Given the description of an element on the screen output the (x, y) to click on. 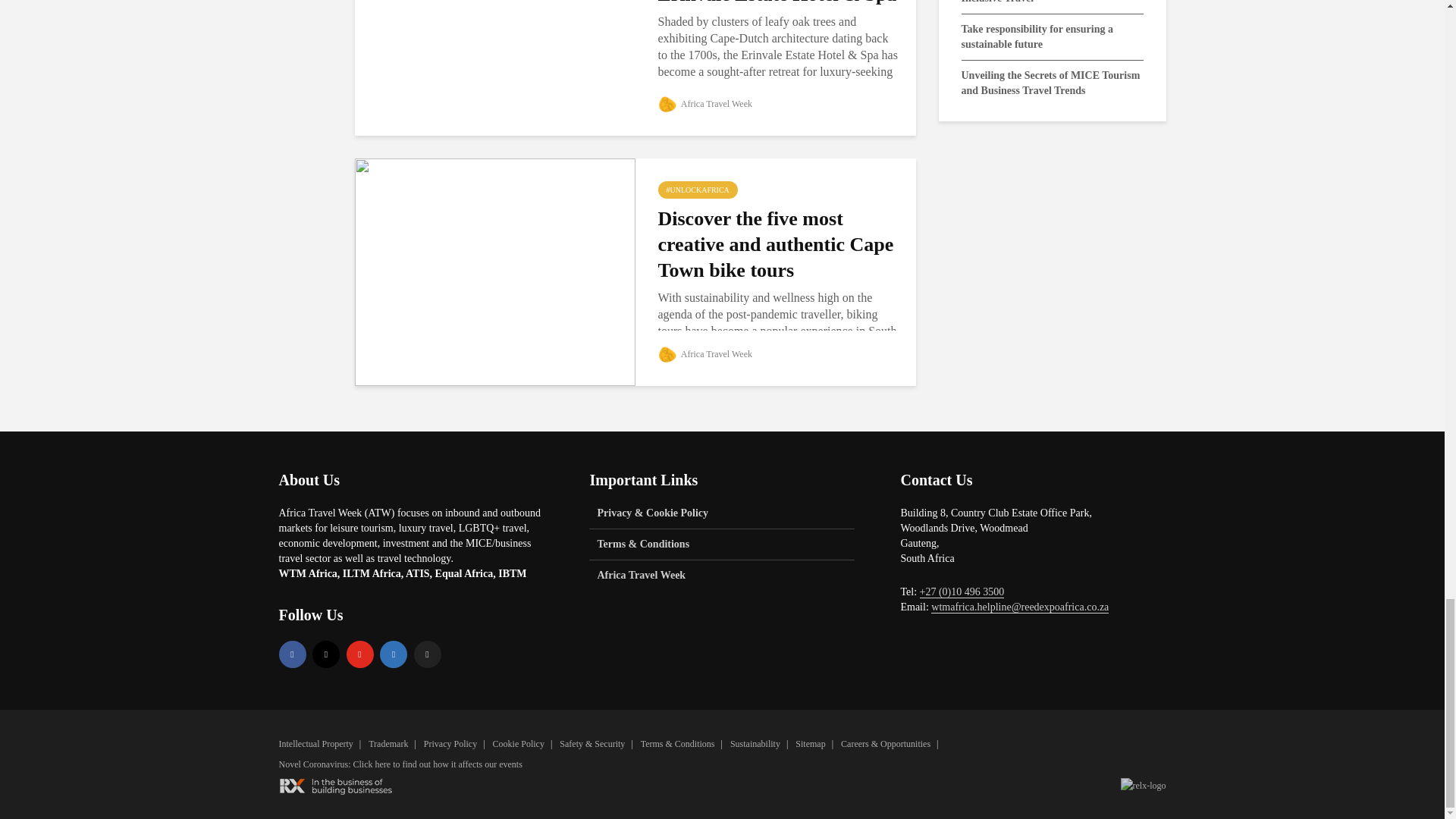
Linkedin (393, 654)
Facebook (292, 654)
Instagram (326, 654)
YouTube (359, 654)
